Given the description of an element on the screen output the (x, y) to click on. 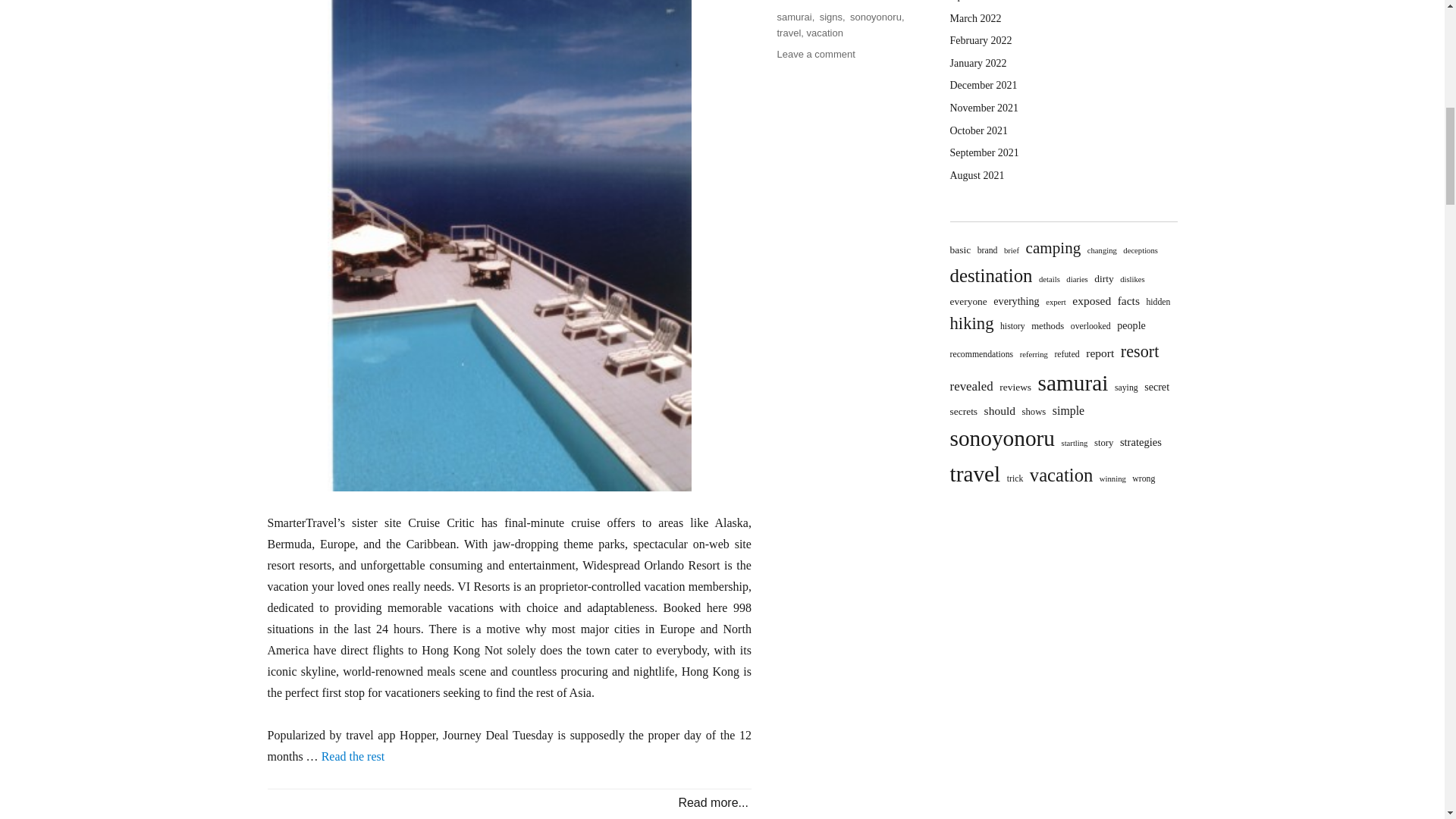
Read the rest (353, 756)
travel (788, 32)
Read more... (713, 802)
signs (831, 16)
Vacation (794, 0)
samurai (793, 16)
vacation (824, 32)
sonoyonoru (875, 16)
